Given the description of an element on the screen output the (x, y) to click on. 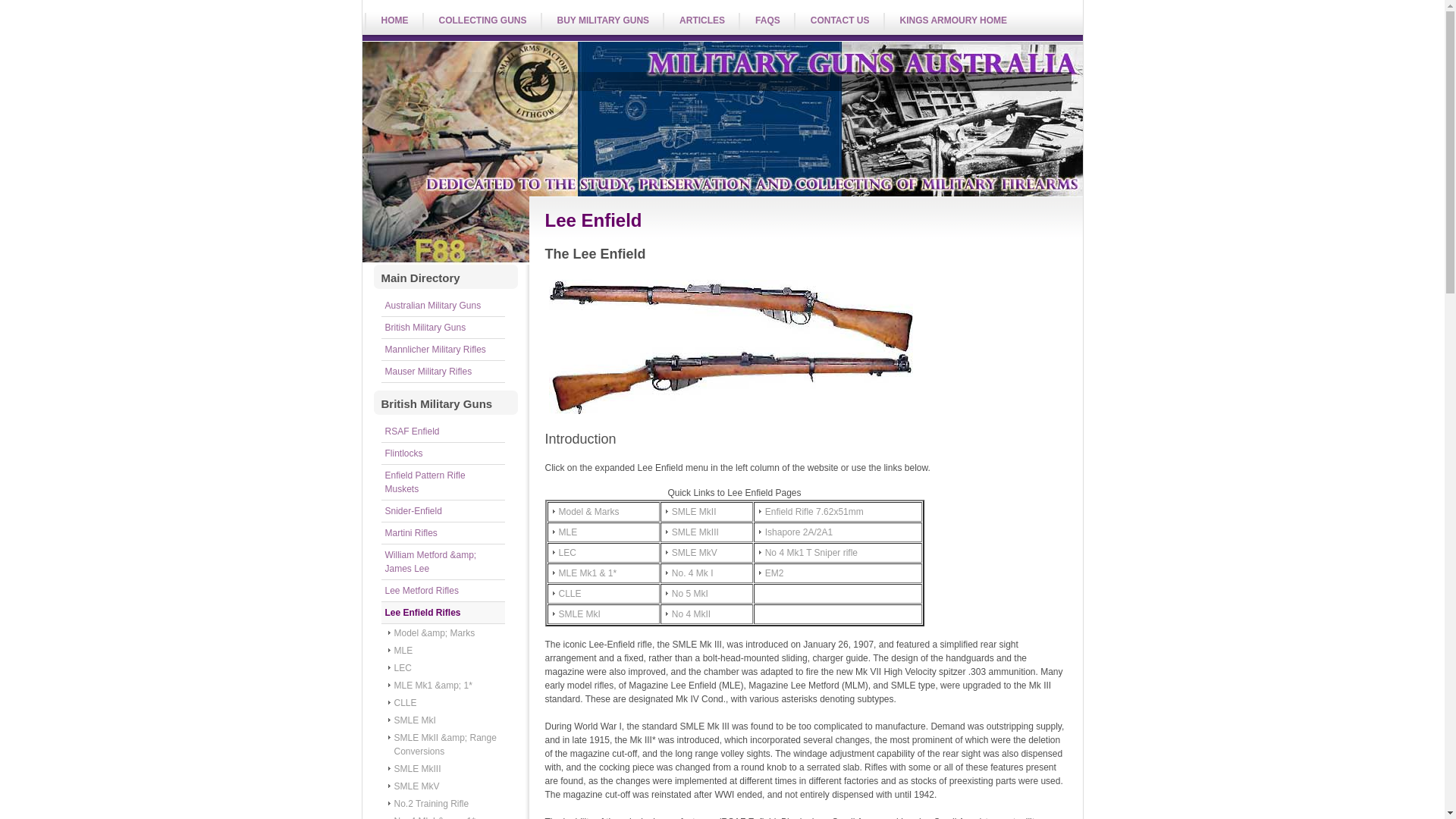
RSAF Enfield Element type: text (442, 431)
Model & Marks Element type: text (603, 511)
Model &amp; Marks Element type: text (446, 632)
Mauser Military Rifles Element type: text (442, 371)
MLE Element type: text (603, 532)
COLLECTING GUNS Element type: text (480, 21)
Lee Enfield Rifles Element type: text (442, 613)
No. 4 Mk I Element type: text (706, 572)
HOME Element type: text (392, 21)
CONTACT US Element type: text (838, 21)
SMLE MkI Element type: text (603, 613)
SMLE MkIII Element type: text (446, 768)
SMLE MkIII Element type: text (706, 532)
Enfield Rifle 7.62x51mm Element type: text (837, 511)
No 4 MkII Element type: text (706, 613)
MLE Mk1 & 1* Element type: text (603, 572)
SMLE MkV Element type: text (706, 552)
FAQS Element type: text (765, 21)
SMLE MkII Element type: text (706, 511)
SMLE MkV Element type: text (446, 786)
LEC Element type: text (603, 552)
Enfield Pattern Rifle Muskets Element type: text (442, 482)
ARTICLES Element type: text (700, 21)
Lee Metford Rifles Element type: text (442, 591)
SMLE MkII &amp; Range Conversions Element type: text (446, 744)
CLLE Element type: text (603, 593)
Snider-Enfield Element type: text (442, 511)
Mannlicher Military Rifles Element type: text (442, 349)
MLE Mk1 &amp; 1* Element type: text (446, 685)
Ishapore 2A/2A1 Element type: text (837, 532)
KINGS ARMOURY HOME Element type: text (952, 21)
BUY MILITARY GUNS Element type: text (600, 21)
Flintlocks Element type: text (442, 453)
Martini Rifles Element type: text (442, 533)
SMLE MkI Element type: text (446, 720)
No.2 Training Rifle Element type: text (446, 803)
LEC Element type: text (446, 667)
MLE Element type: text (446, 650)
EM2 Element type: text (837, 572)
SMLE No1 MkIII Element type: hover (731, 346)
CLLE Element type: text (446, 702)
William Metford &amp; James Lee Element type: text (442, 562)
Australian Military Guns Element type: text (442, 305)
No 5 MkI Element type: text (706, 593)
No 4 Mk1 T Sniper rifle Element type: text (837, 552)
British Military Guns Element type: text (442, 327)
